Given the description of an element on the screen output the (x, y) to click on. 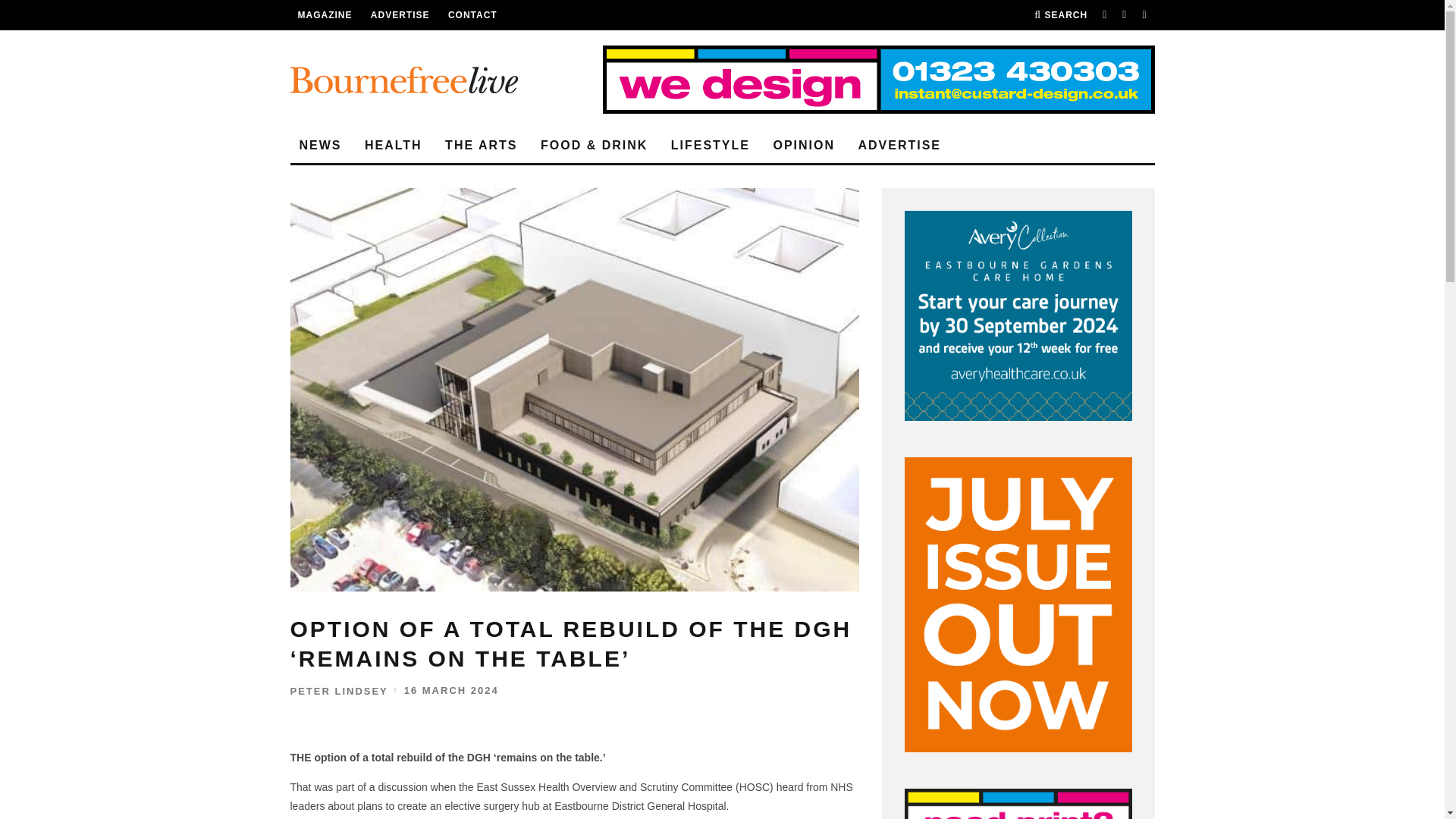
NEWS (319, 145)
OPINION (803, 145)
PETER LINDSEY (338, 690)
MAGAZINE (324, 15)
Search (1060, 15)
ADVERTISE (899, 145)
ADVERTISE (400, 15)
THE ARTS (480, 145)
CONTACT (472, 15)
Log In (721, 409)
LIFESTYLE (710, 145)
SEARCH (1060, 15)
HEALTH (392, 145)
